Given the description of an element on the screen output the (x, y) to click on. 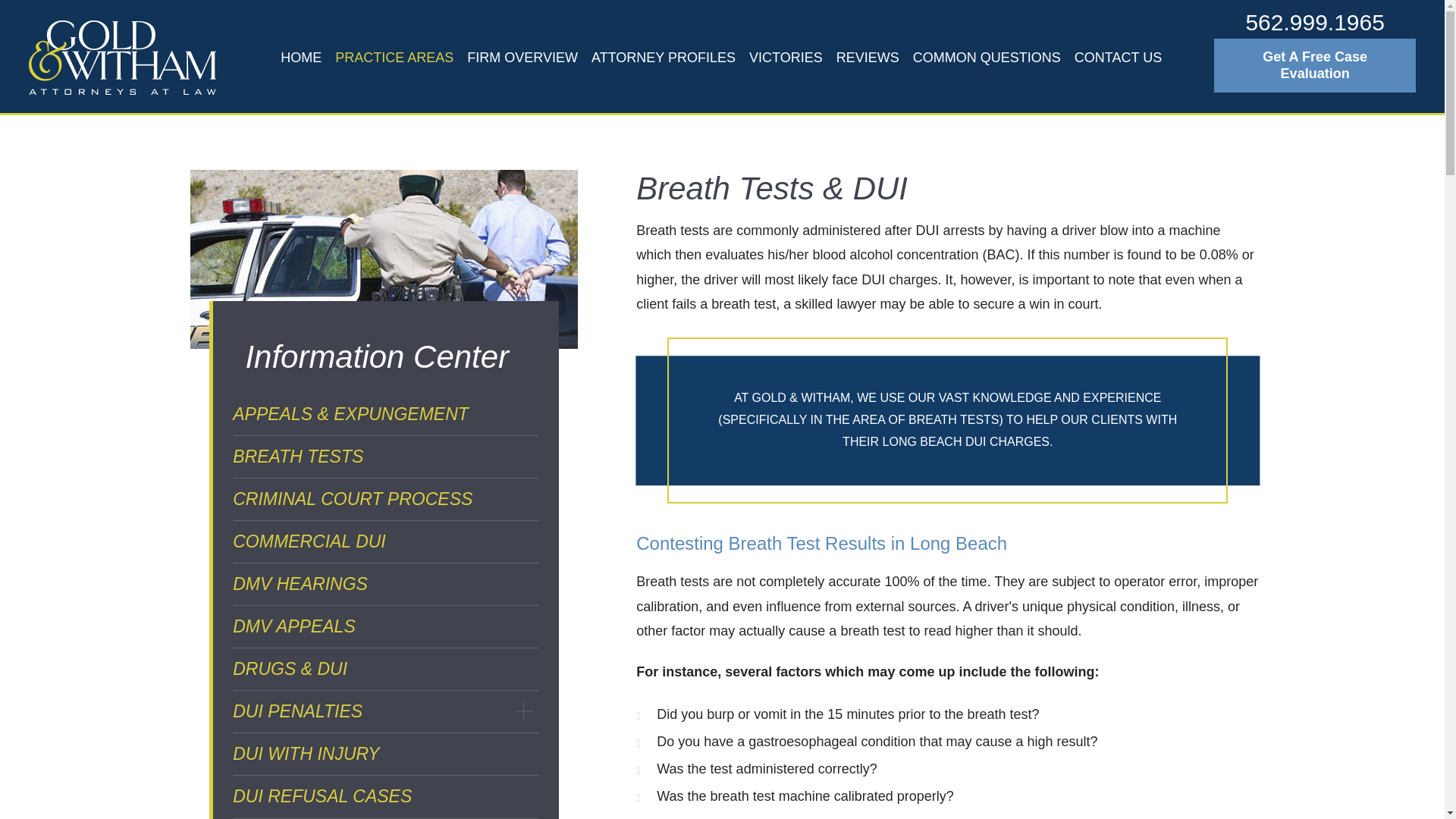
562.999.1965 (1314, 22)
FIRM OVERVIEW (522, 57)
COMMON QUESTIONS (986, 57)
Get A Free Case Evaluation (1314, 64)
Breath Tests (384, 258)
ATTORNEY PROFILES (663, 57)
PRACTICE AREAS (394, 57)
